Given the description of an element on the screen output the (x, y) to click on. 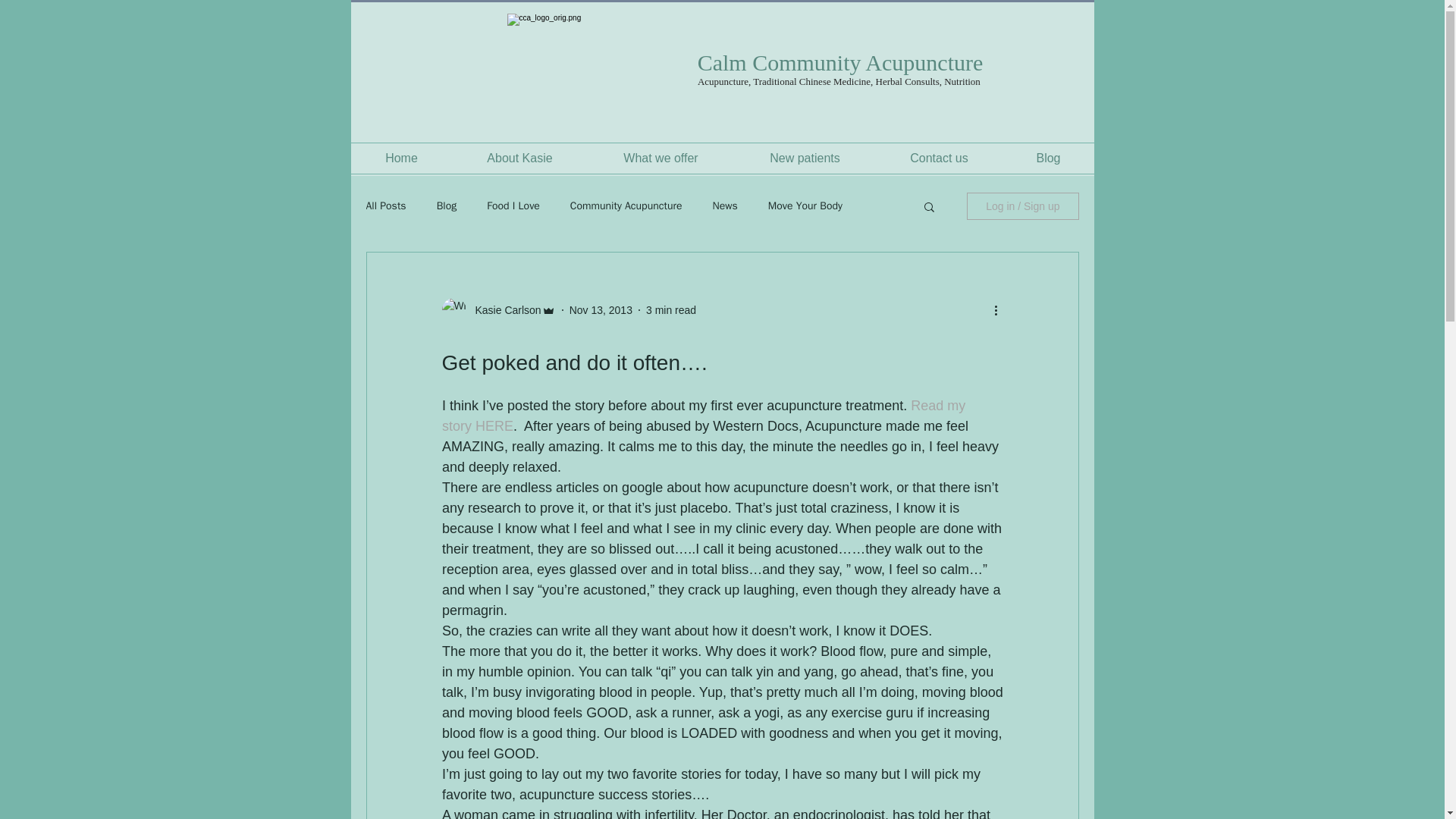
New patients (804, 158)
Contact us (939, 158)
Food I Love (513, 205)
Move Your Body (805, 205)
Calm Community Acupuncture (840, 62)
Blog (446, 205)
3 min read (670, 309)
About Kasie (518, 158)
Nov 13, 2013 (600, 309)
All Posts (385, 205)
